Given the description of an element on the screen output the (x, y) to click on. 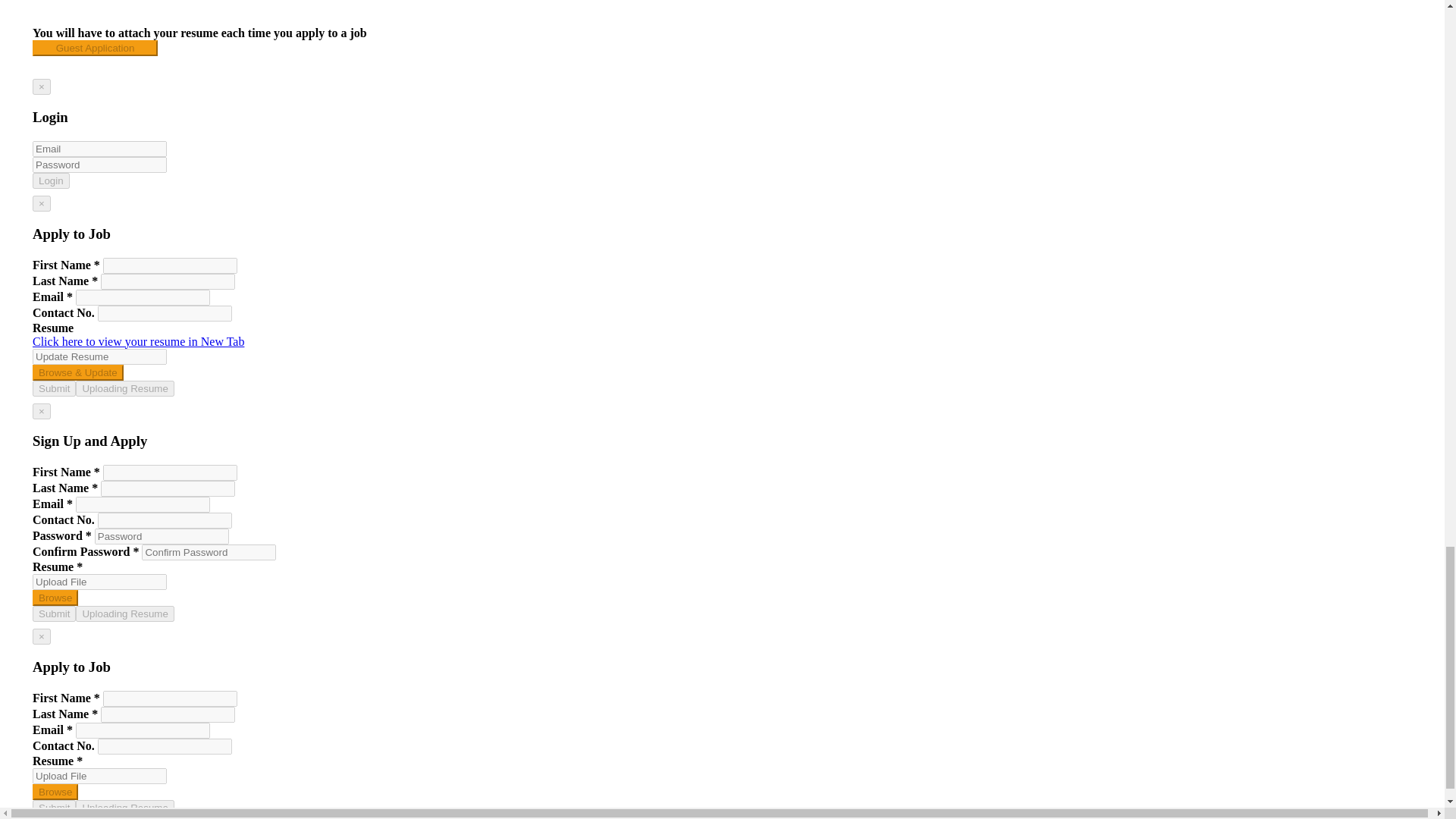
Submit (53, 807)
Uploading Resume (124, 388)
Browse (55, 791)
Login (50, 180)
Guest Application (94, 48)
Uploading Resume (124, 613)
Submit (53, 388)
Click here to view your resume in New Tab (138, 341)
Browse (55, 597)
Submit (53, 613)
